Given the description of an element on the screen output the (x, y) to click on. 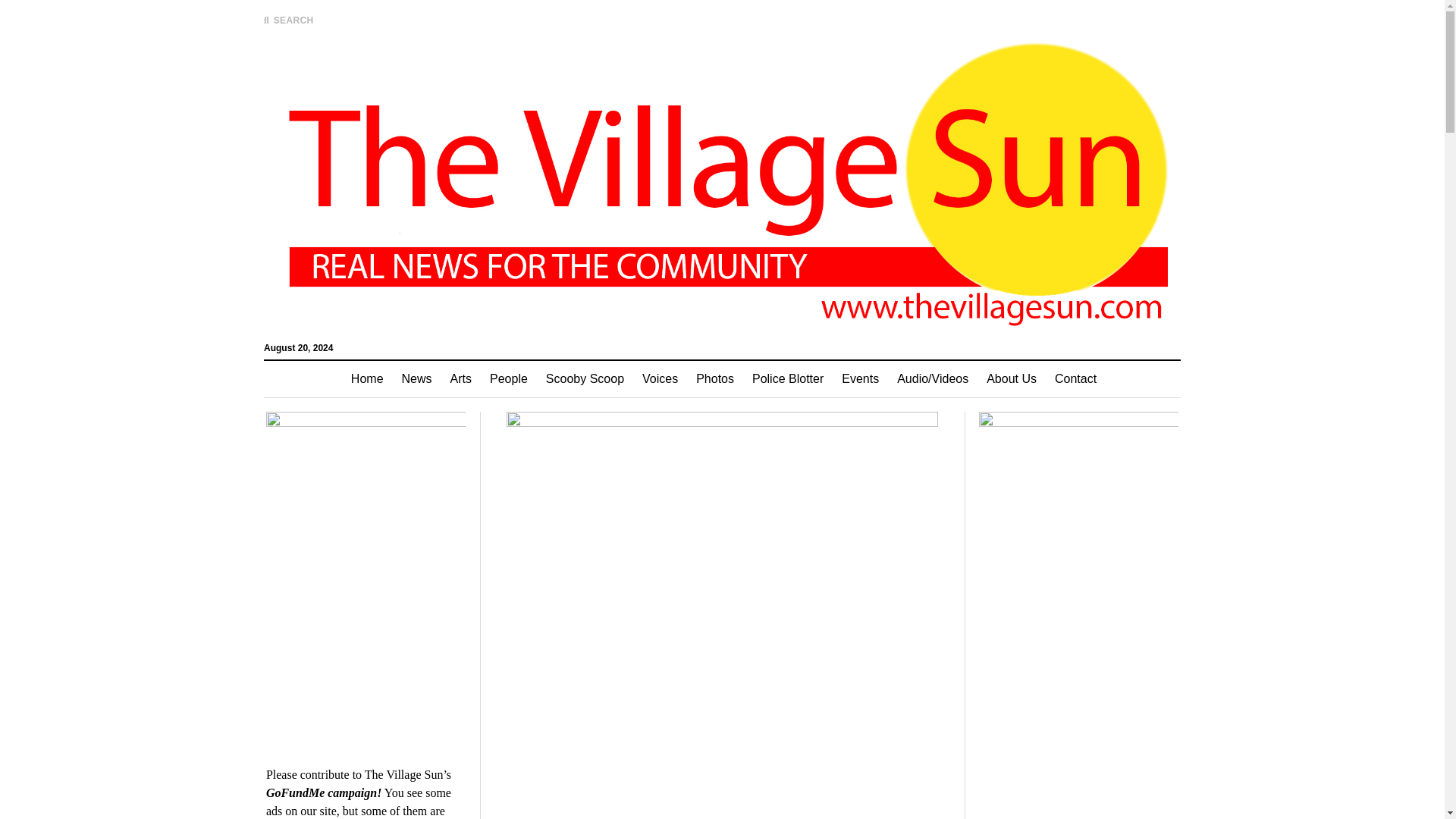
Photos (714, 379)
News (417, 379)
Events (860, 379)
SEARCH (288, 20)
Search (945, 129)
About Us (1010, 379)
People (508, 379)
Home (367, 379)
Voices (660, 379)
Scooby Scoop (585, 379)
